Given the description of an element on the screen output the (x, y) to click on. 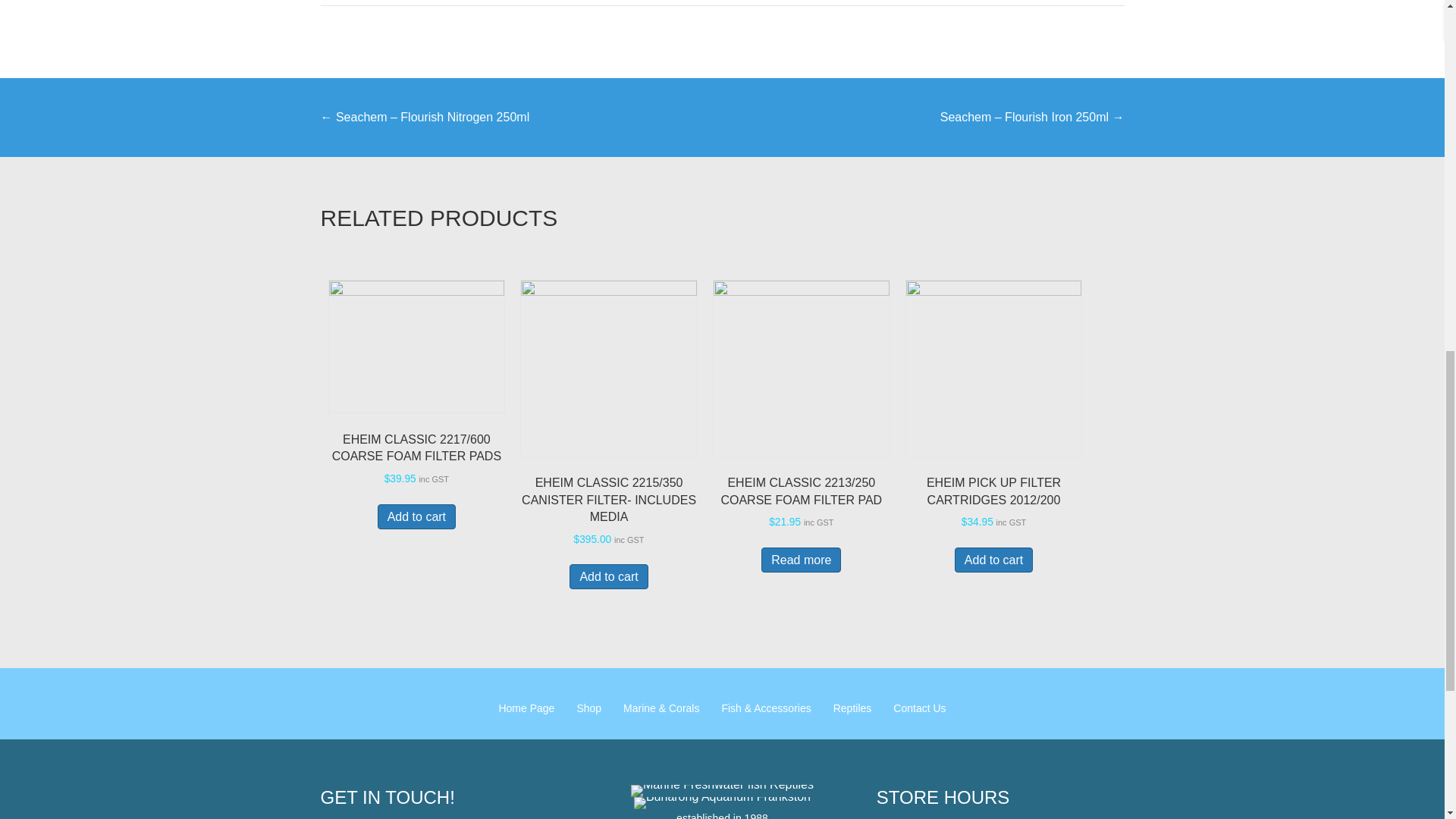
Read more (801, 559)
Contact Us (919, 707)
Add to cart (993, 559)
Reptiles (852, 707)
Add to cart (416, 516)
Add to cart (608, 576)
Home Page (525, 707)
bunarong-aquarium-footer (721, 802)
Shop (588, 707)
